Given the description of an element on the screen output the (x, y) to click on. 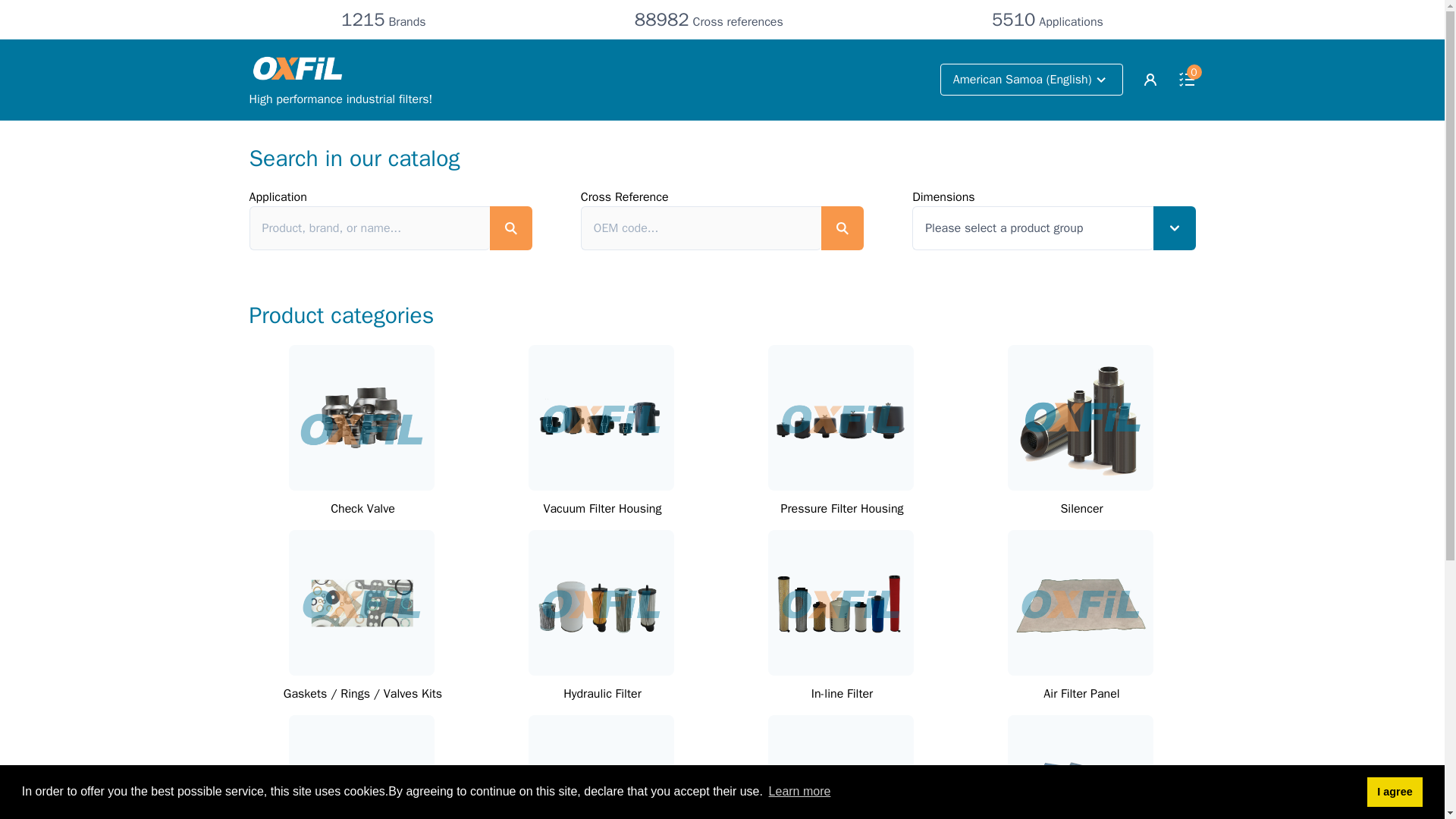
Pressure Filter Housing (842, 508)
0 (1185, 79)
Learn more (798, 791)
Vacuum Filter Housing (602, 508)
I agree (1394, 791)
Check Valve (362, 508)
Silencer (1080, 508)
